Given the description of an element on the screen output the (x, y) to click on. 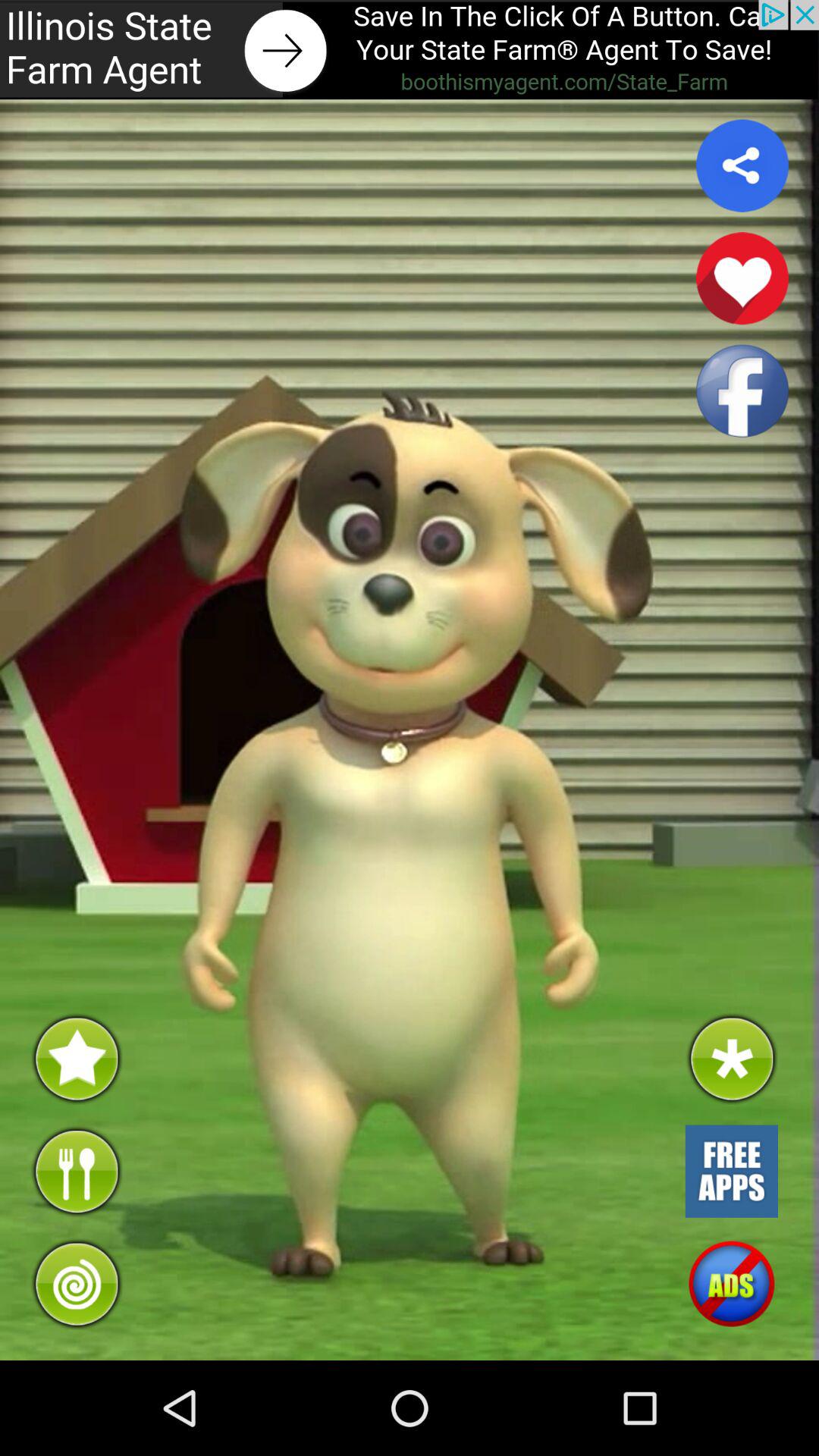
link to advert (409, 49)
